Given the description of an element on the screen output the (x, y) to click on. 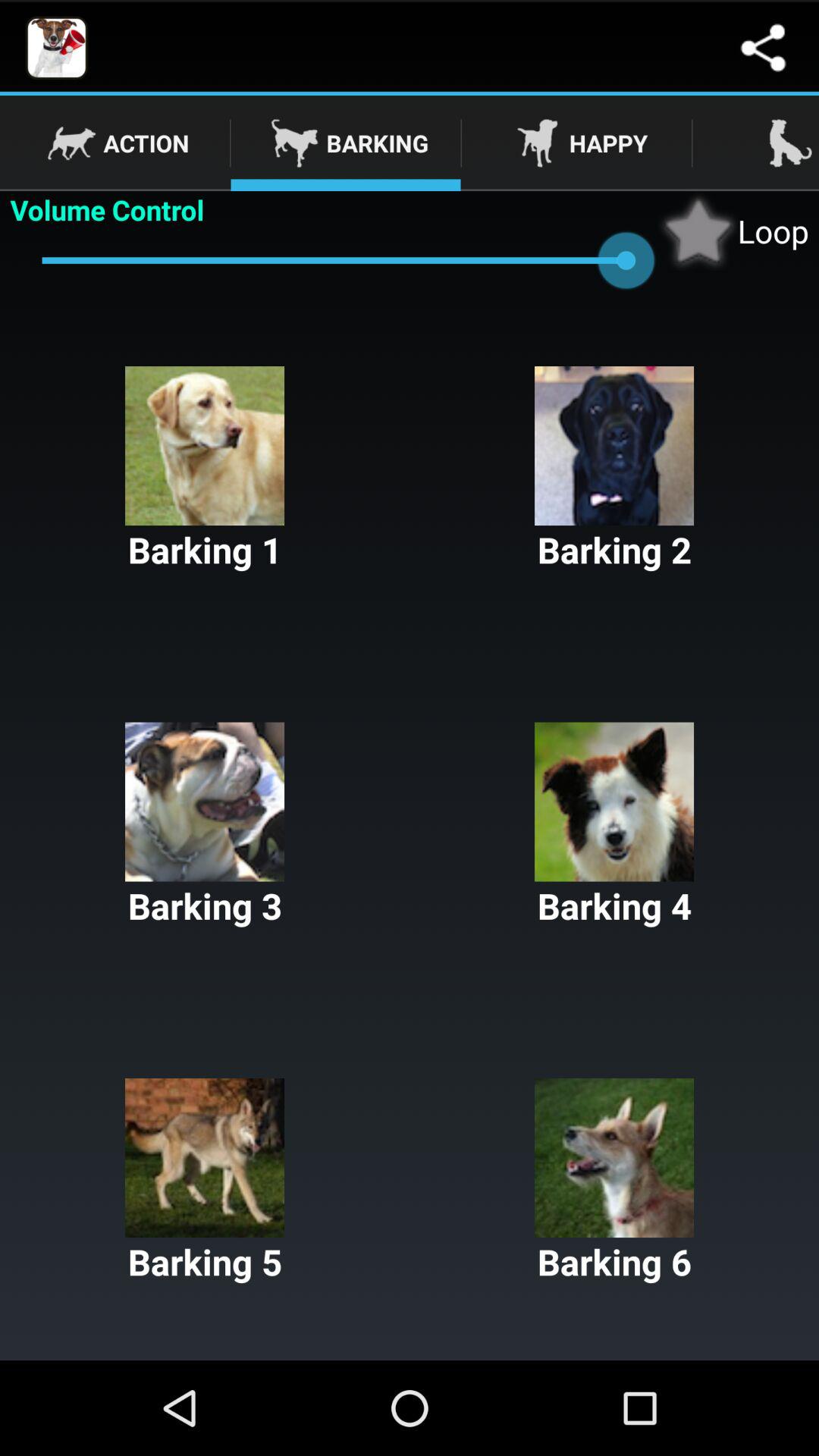
swipe to loop icon (733, 230)
